Given the description of an element on the screen output the (x, y) to click on. 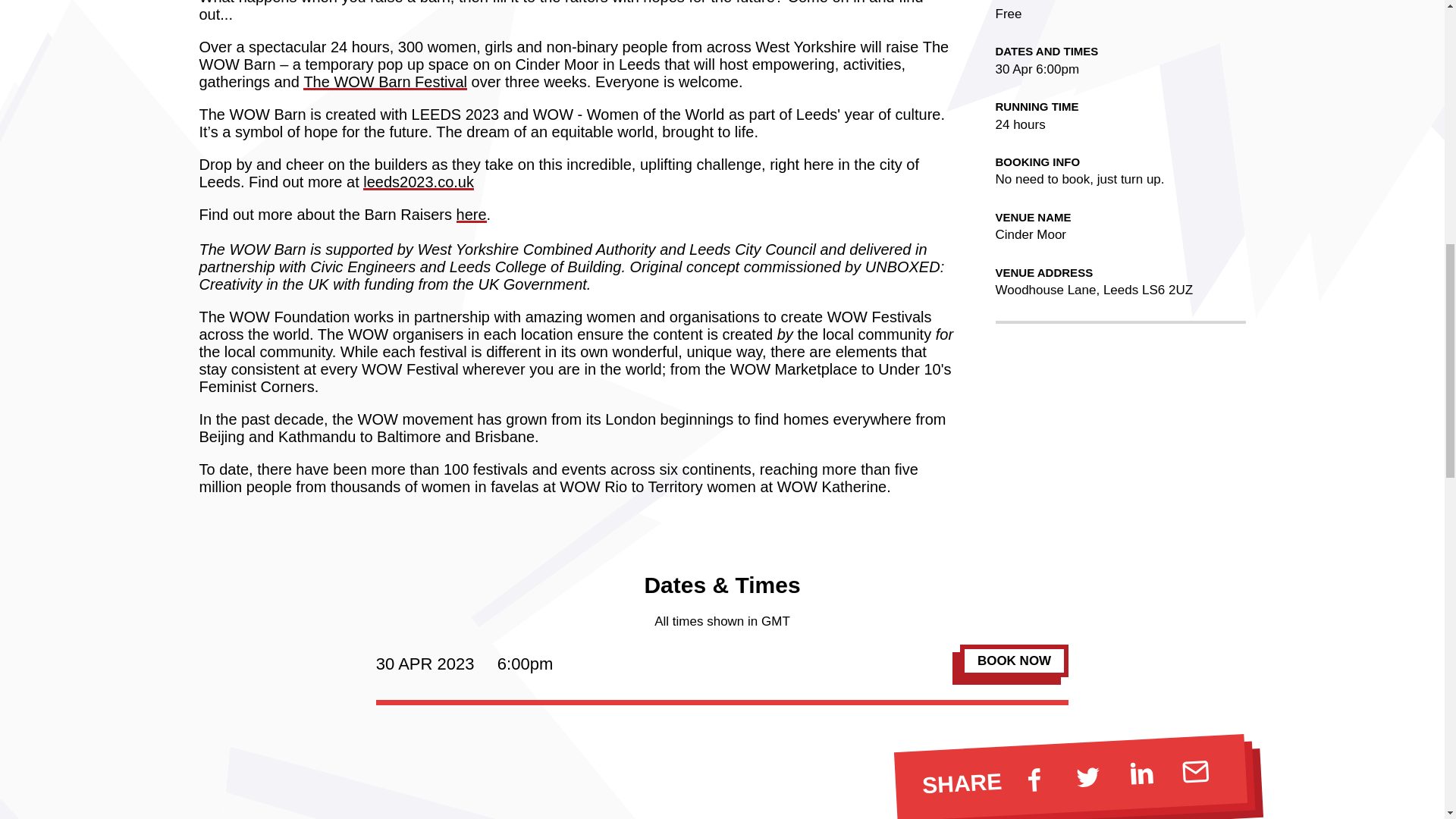
Facebook (1032, 777)
Twitter (1086, 774)
The WOW Barn Festival (384, 81)
email (1194, 769)
leeds2023.co.uk (418, 181)
BOOK NOW (1013, 660)
Linked In (1140, 772)
here (471, 214)
